Given the description of an element on the screen output the (x, y) to click on. 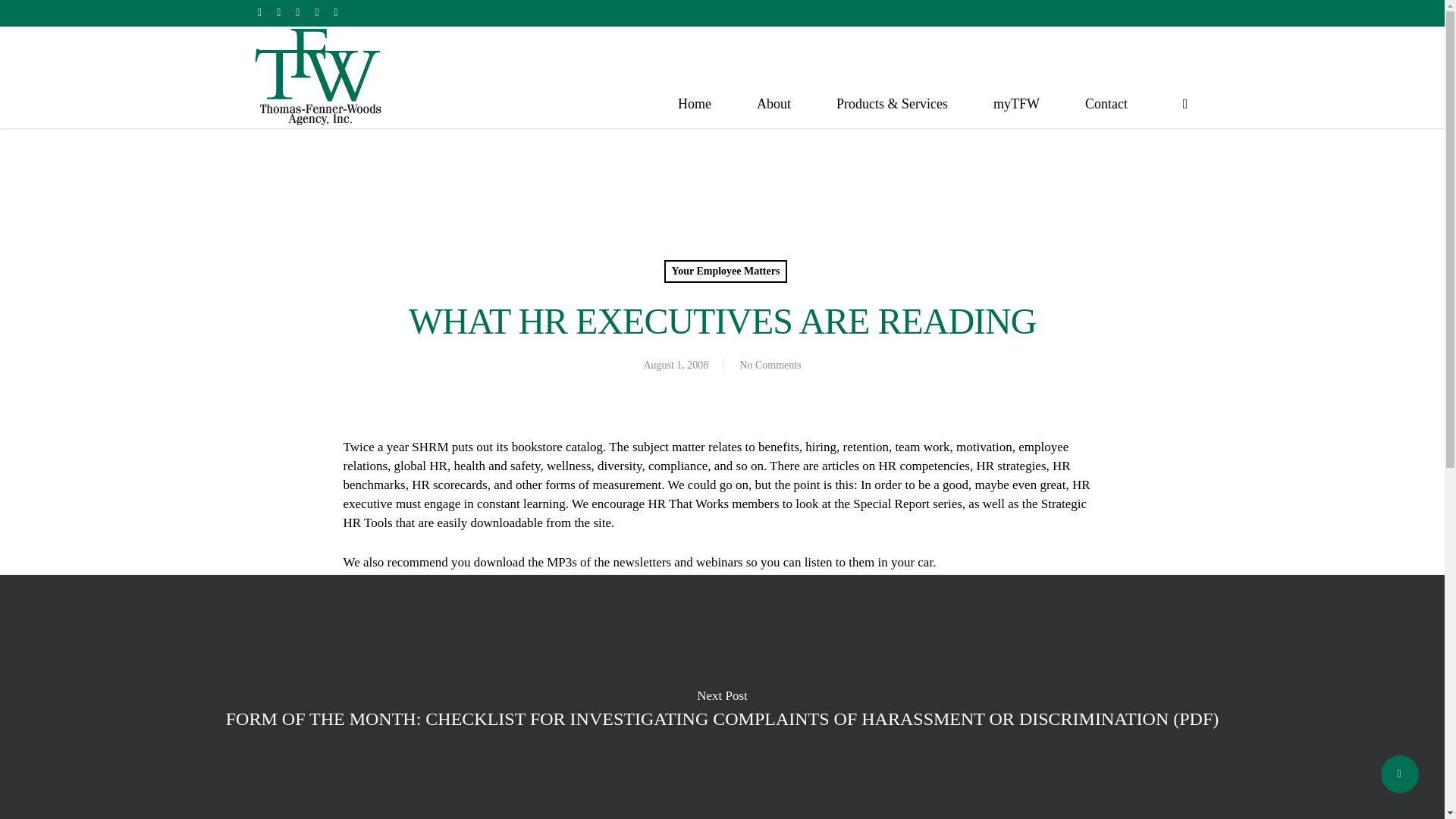
Home (694, 103)
Your Employee Matters (725, 271)
search (1184, 103)
Contact (1106, 103)
myTFW (1016, 103)
No Comments (769, 365)
About (773, 103)
